Given the description of an element on the screen output the (x, y) to click on. 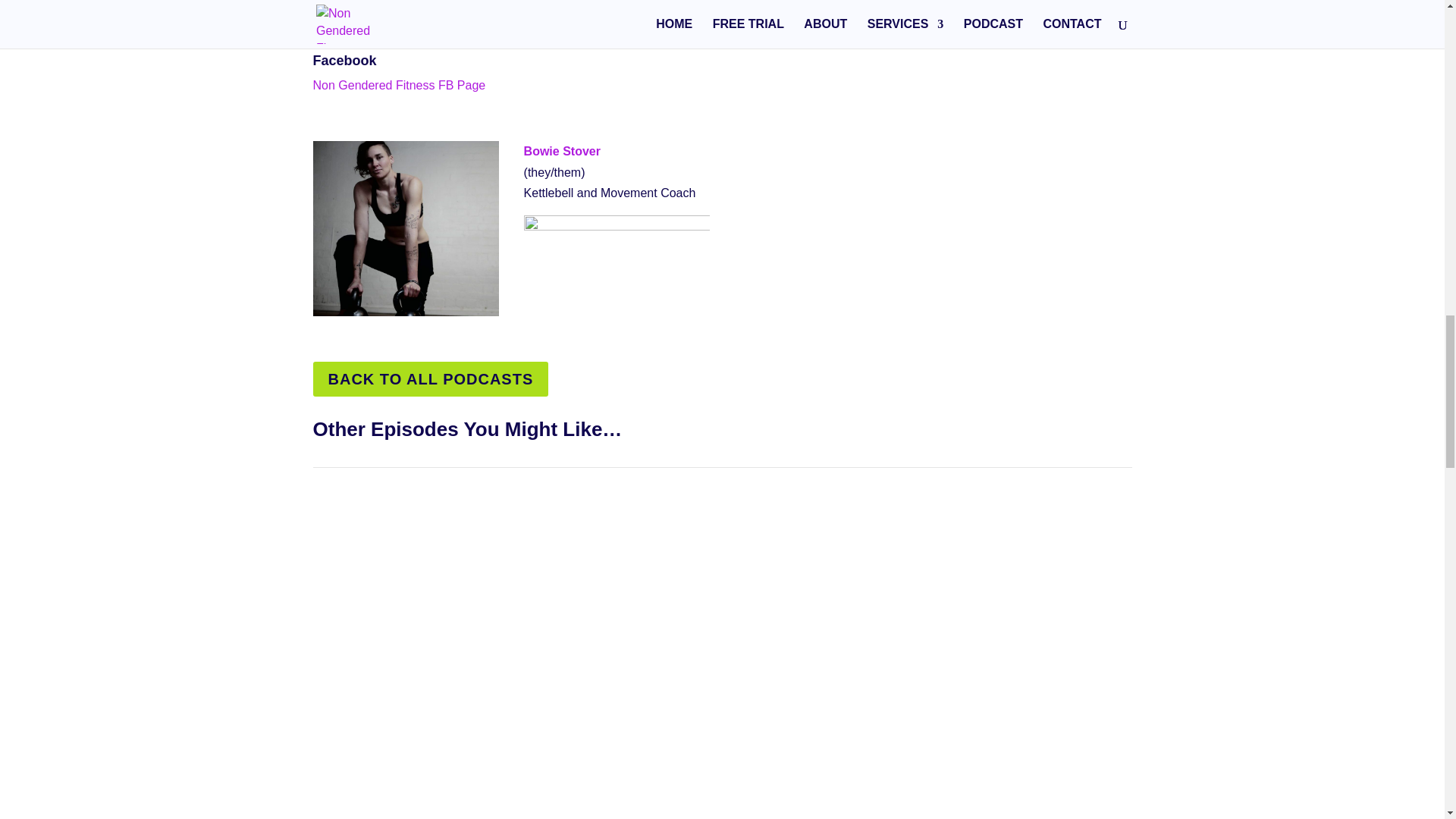
Bowie Signature (617, 246)
Non Gendered Fitness FB Page (398, 84)
BACK TO ALL PODCASTS (430, 378)
bowie-stover-with-kettlebells (406, 227)
Bowie Stover (561, 151)
